Given the description of an element on the screen output the (x, y) to click on. 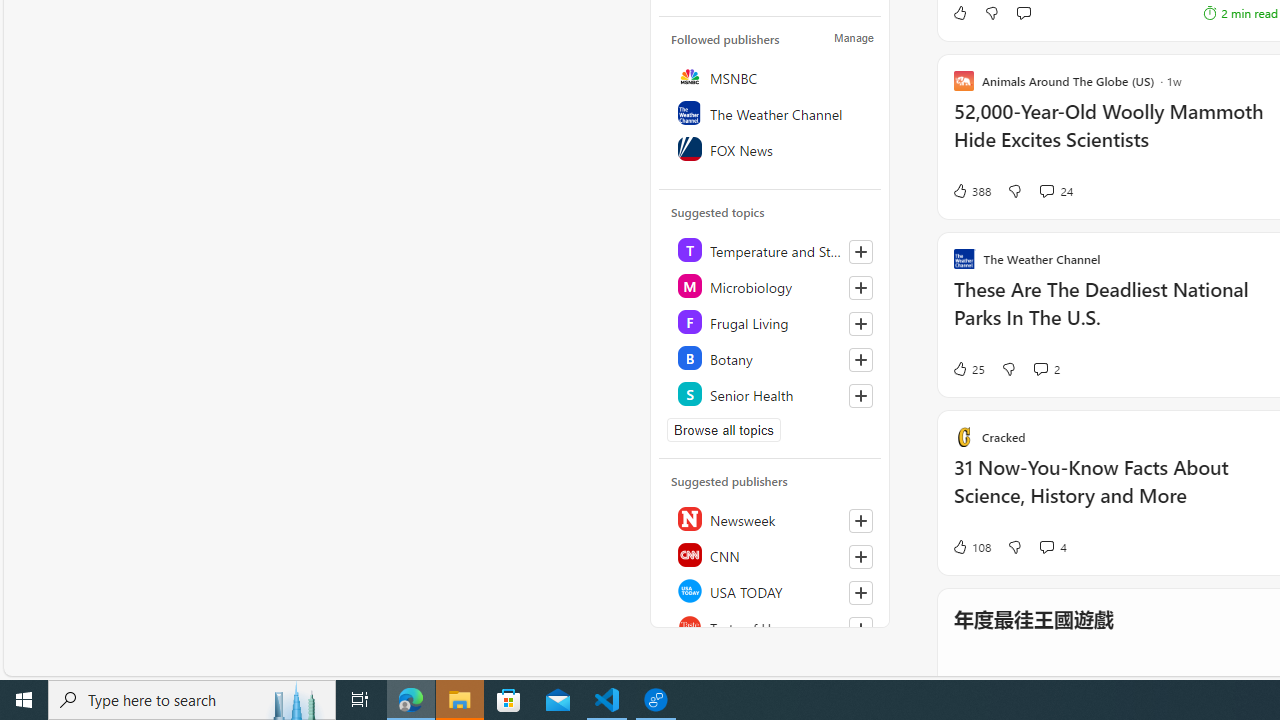
388 Like (970, 191)
108 Like (970, 546)
52,000-Year-Old Woolly Mammoth Hide Excites Scientists (1115, 135)
FOX News (771, 148)
Taste of Home (771, 626)
Browse all topics (724, 430)
View comments 2 Comment (1040, 368)
View comments 4 Comment (1052, 546)
View comments 24 Comment (1046, 190)
Manage (854, 37)
